Given the description of an element on the screen output the (x, y) to click on. 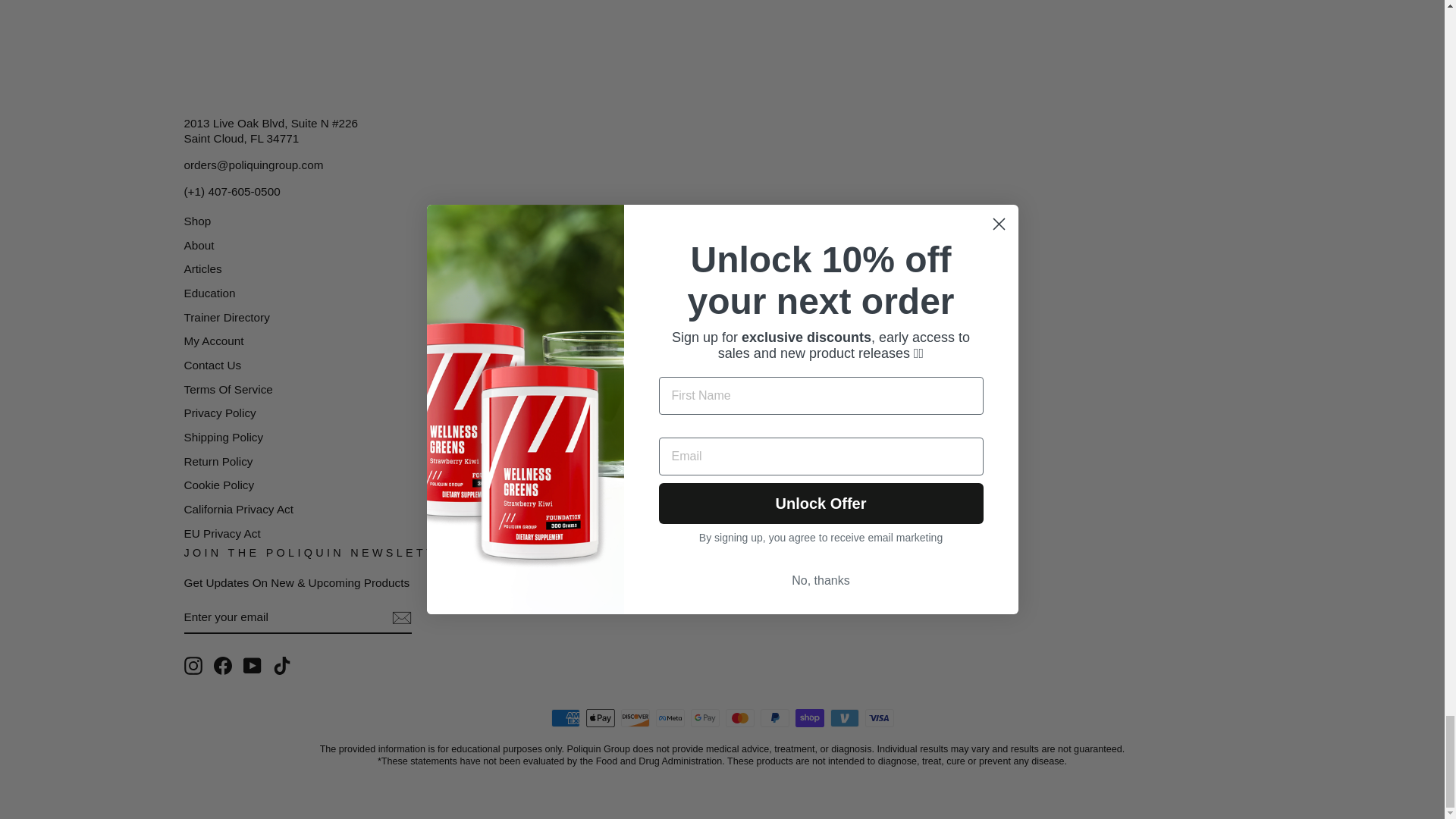
icon-email (400, 618)
Poliquin on YouTube (251, 665)
Apple Pay (599, 718)
instagram (192, 665)
Poliquin on Instagram (192, 665)
Meta Pay (669, 718)
Poliquin on TikTok (282, 665)
Google Pay (704, 718)
Poliquin on Facebook (222, 665)
American Express (564, 718)
Discover (634, 718)
